Given the description of an element on the screen output the (x, y) to click on. 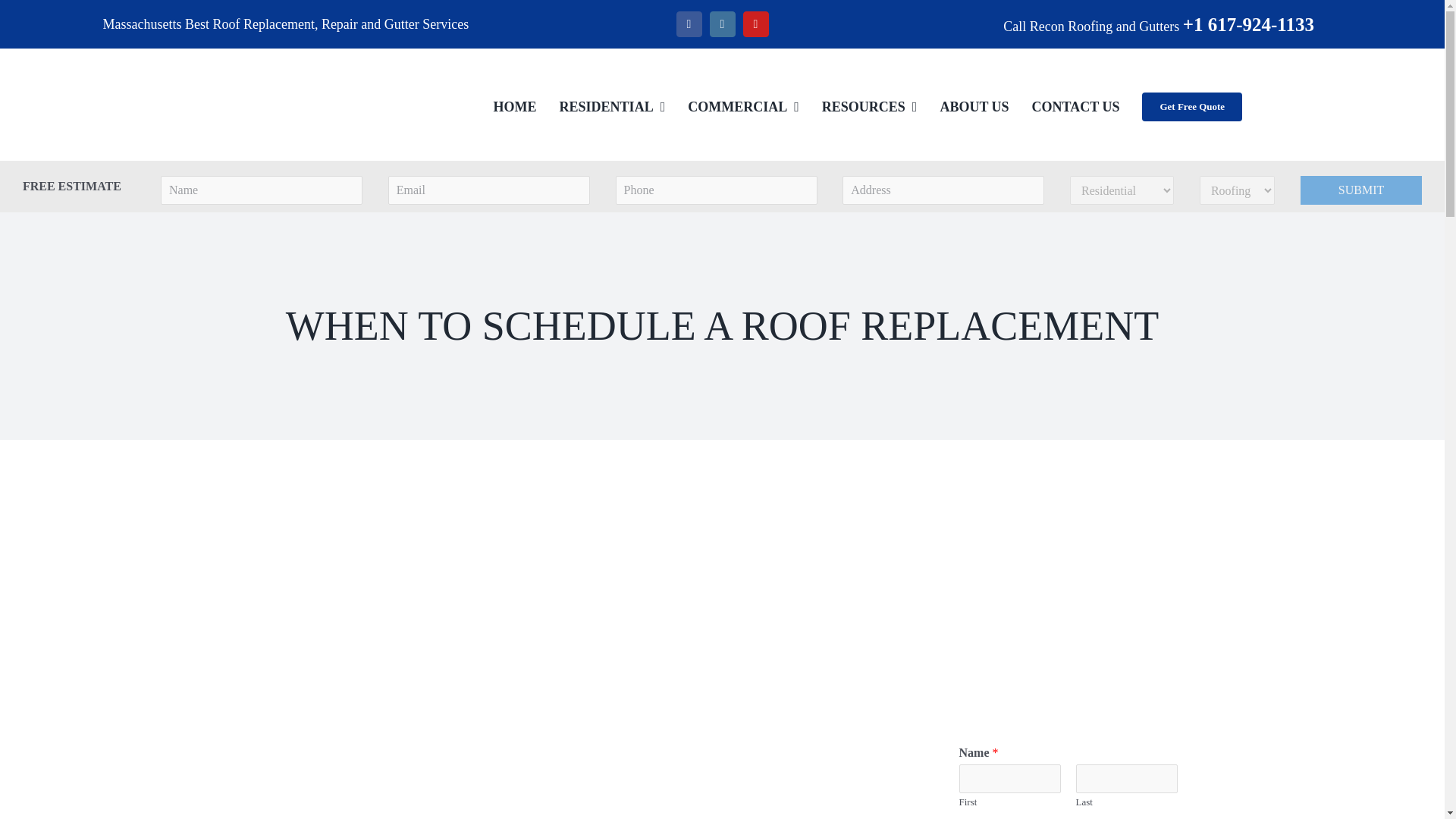
Instagram (722, 23)
COMMERCIAL (743, 106)
RESOURCES (869, 106)
Facebook (689, 23)
RESIDENTIAL (612, 106)
Home (515, 106)
YouTube (755, 23)
HOME (515, 106)
Residential Roofing (612, 106)
